Given the description of an element on the screen output the (x, y) to click on. 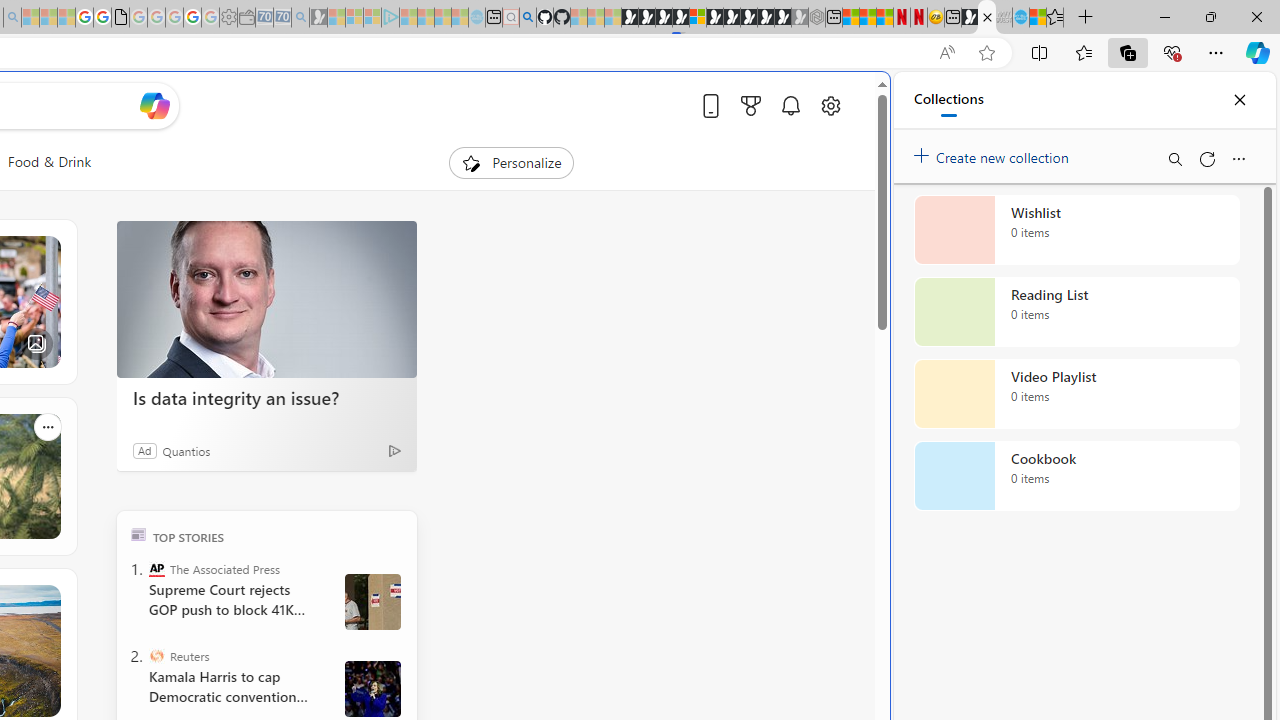
Wishlist collection, 0 items (1076, 229)
